Given the description of an element on the screen output the (x, y) to click on. 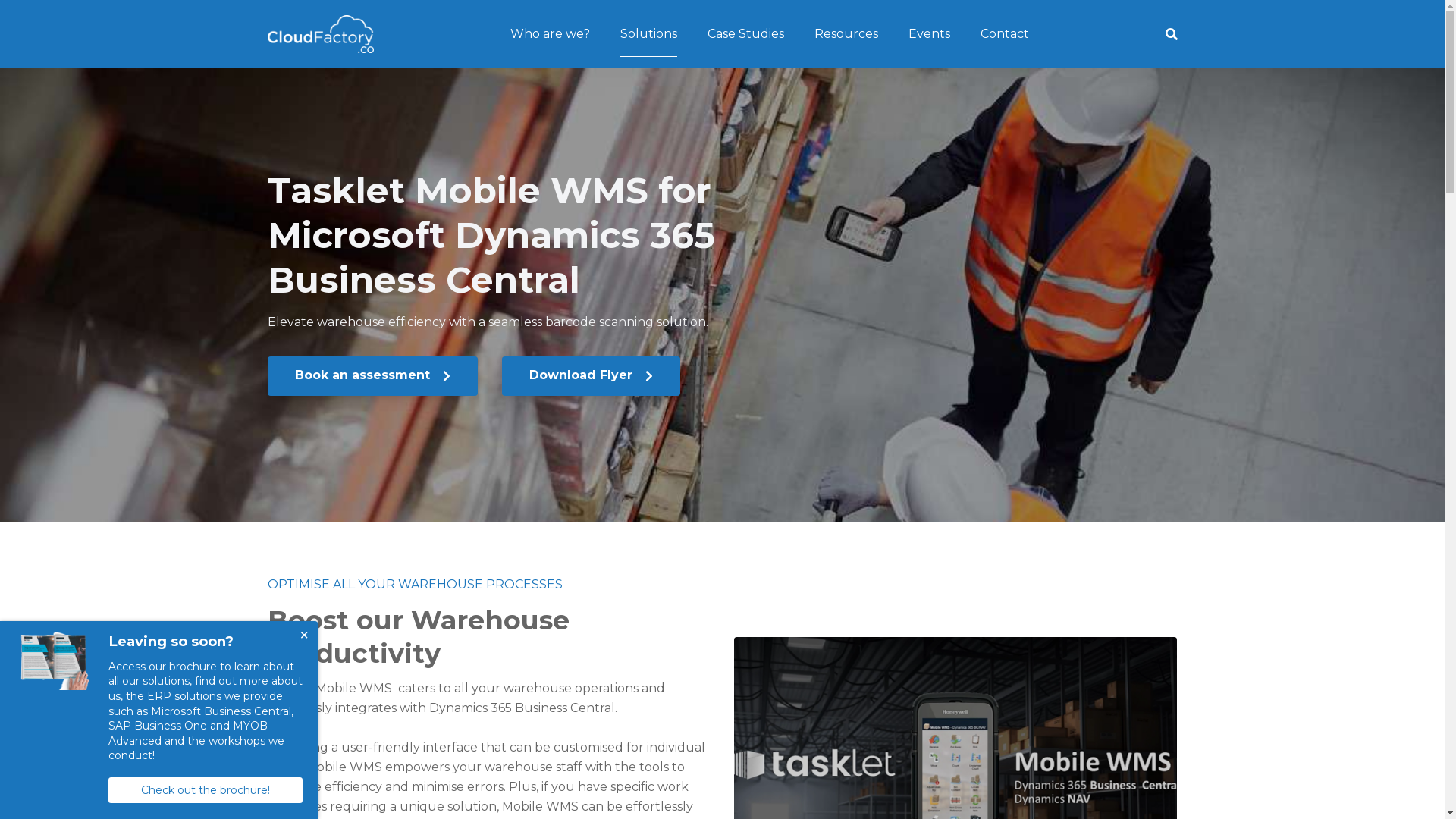
Download Flyer Element type: text (591, 375)
Cloud Factory Logo Element type: hover (319, 33)
Resources Element type: text (846, 34)
Case Studies Element type: text (745, 34)
Events Element type: text (929, 34)
Who are we? Element type: text (549, 34)
Solutions Element type: text (648, 34)
Check out the brochure! Element type: text (205, 790)
Book an assessment Element type: text (371, 375)
Contact Element type: text (1004, 34)
